Given the description of an element on the screen output the (x, y) to click on. 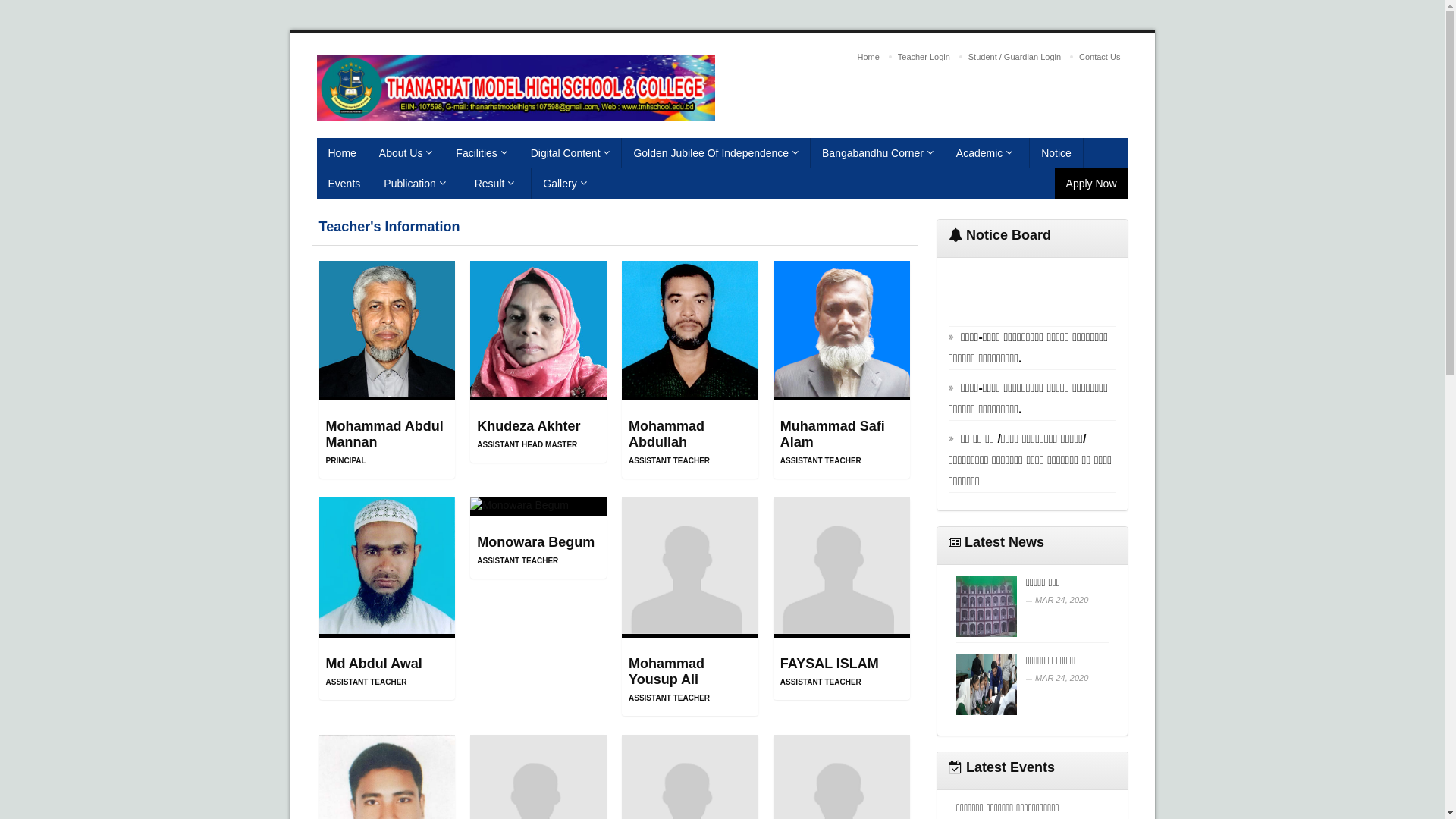
Khudeza Akhter Element type: text (528, 425)
Mohammad Yousup Ali Element type: text (666, 671)
Md Abdul Awal Element type: text (374, 663)
Mohammad Abdullah Element type: text (666, 433)
Bangabandhu Corner Element type: text (877, 153)
Teacher Login Element type: text (923, 56)
About Us Element type: text (405, 153)
Notice Element type: text (1056, 153)
Student / Guardian Login Element type: text (1014, 56)
Muhammad Safi Alam Element type: text (832, 433)
Apply Now Element type: text (1091, 183)
Contact Us Element type: text (1099, 56)
Monowara Begum Element type: text (535, 541)
Home Element type: text (341, 153)
Result Element type: text (497, 183)
Facilities Element type: text (481, 153)
Publication Element type: text (417, 183)
Golden Jubilee Of Independence Element type: text (715, 153)
Gallery Element type: text (567, 183)
Home Element type: text (868, 56)
Events Element type: text (344, 183)
Digital Content Element type: text (570, 153)
Academic Element type: text (986, 153)
FAYSAL ISLAM Element type: text (829, 663)
Mohammad Abdul Mannan Element type: text (384, 433)
